Given the description of an element on the screen output the (x, y) to click on. 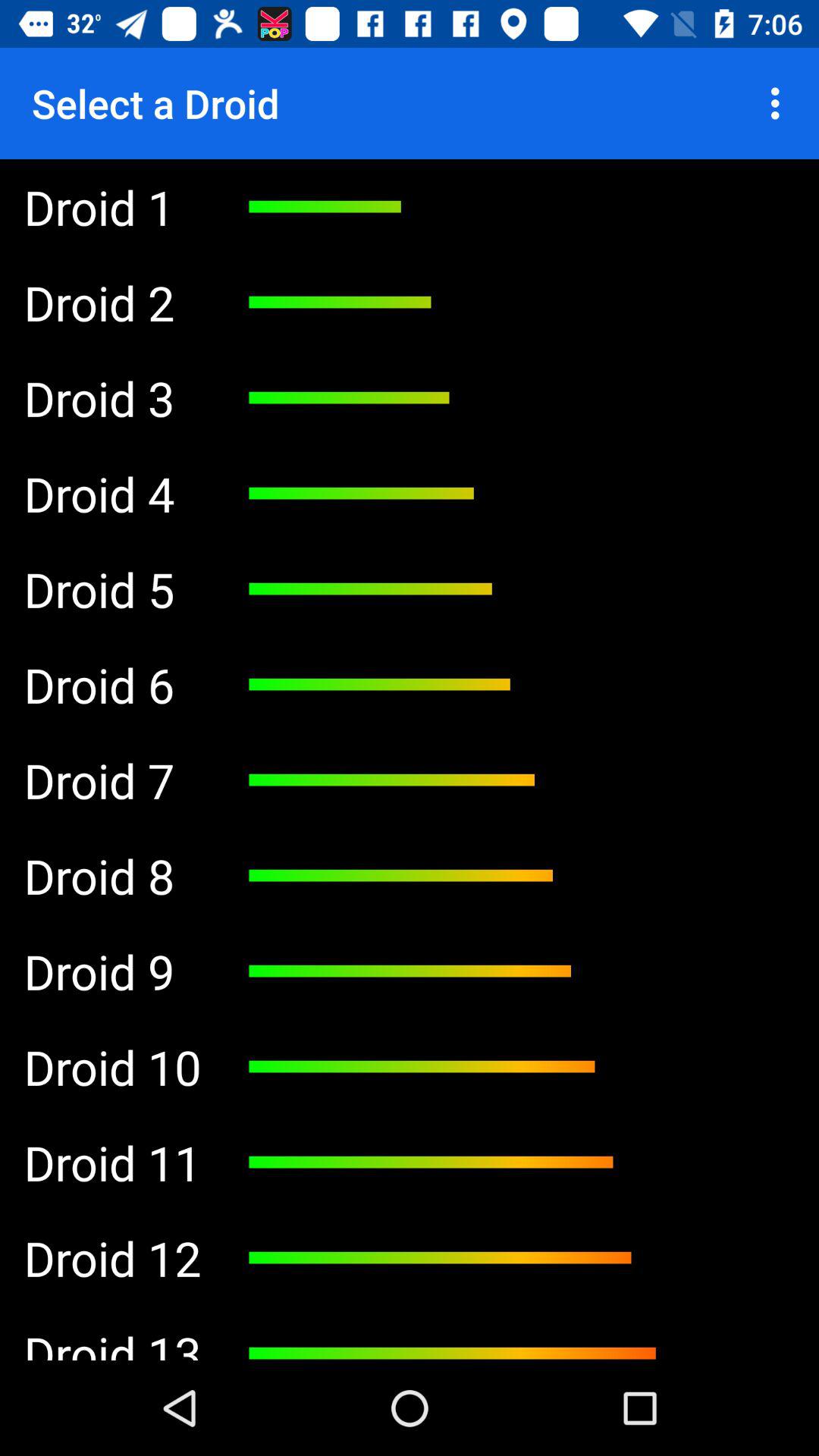
swipe until droid 9 (112, 971)
